Given the description of an element on the screen output the (x, y) to click on. 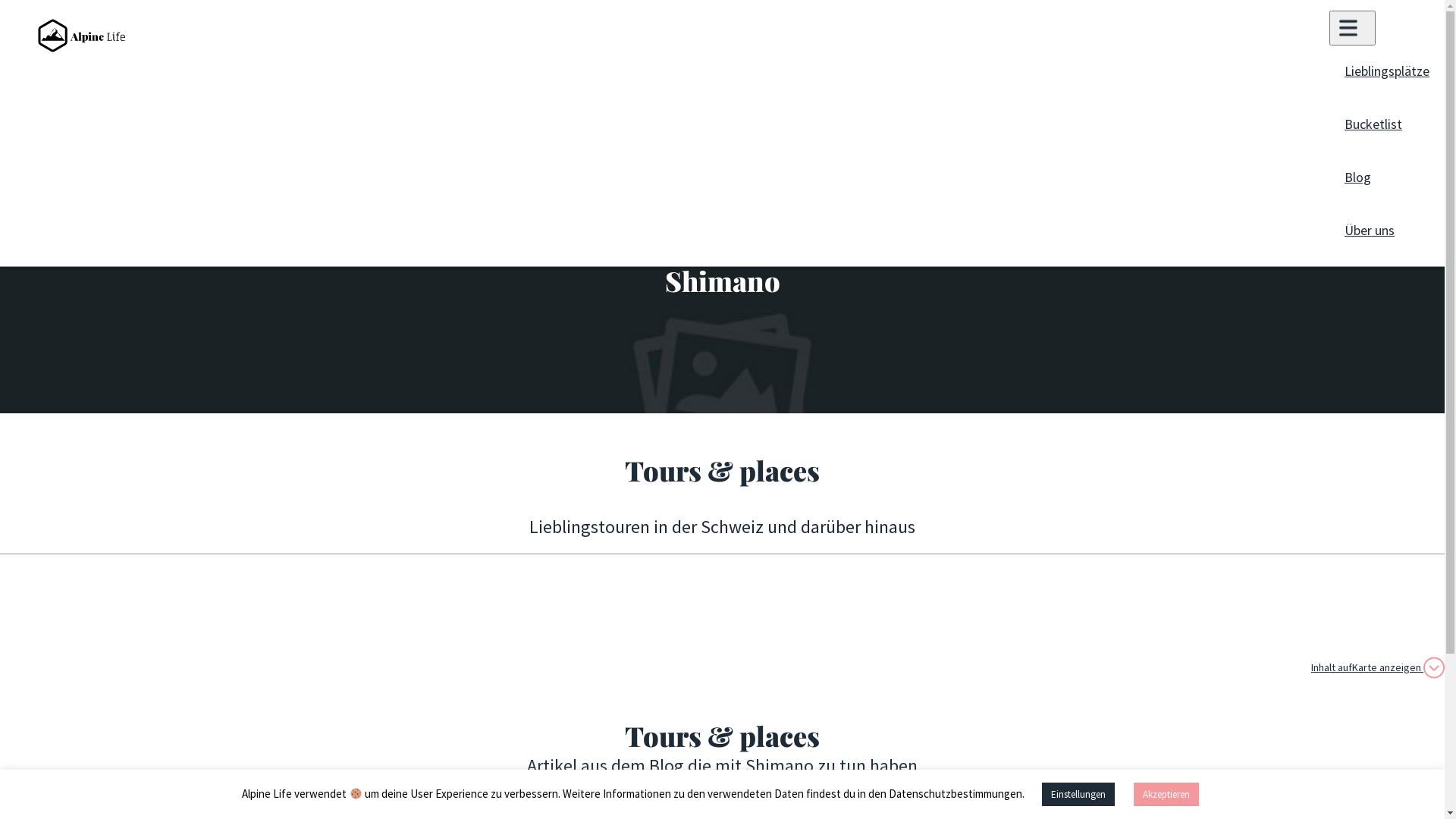
Inhalt aufKarte anzeigen Element type: text (1377, 667)
Blog Element type: text (1357, 177)
Bucketlist Element type: text (1373, 124)
Akzeptieren Element type: text (1165, 794)
Einstellungen Element type: text (1077, 794)
